Given the description of an element on the screen output the (x, y) to click on. 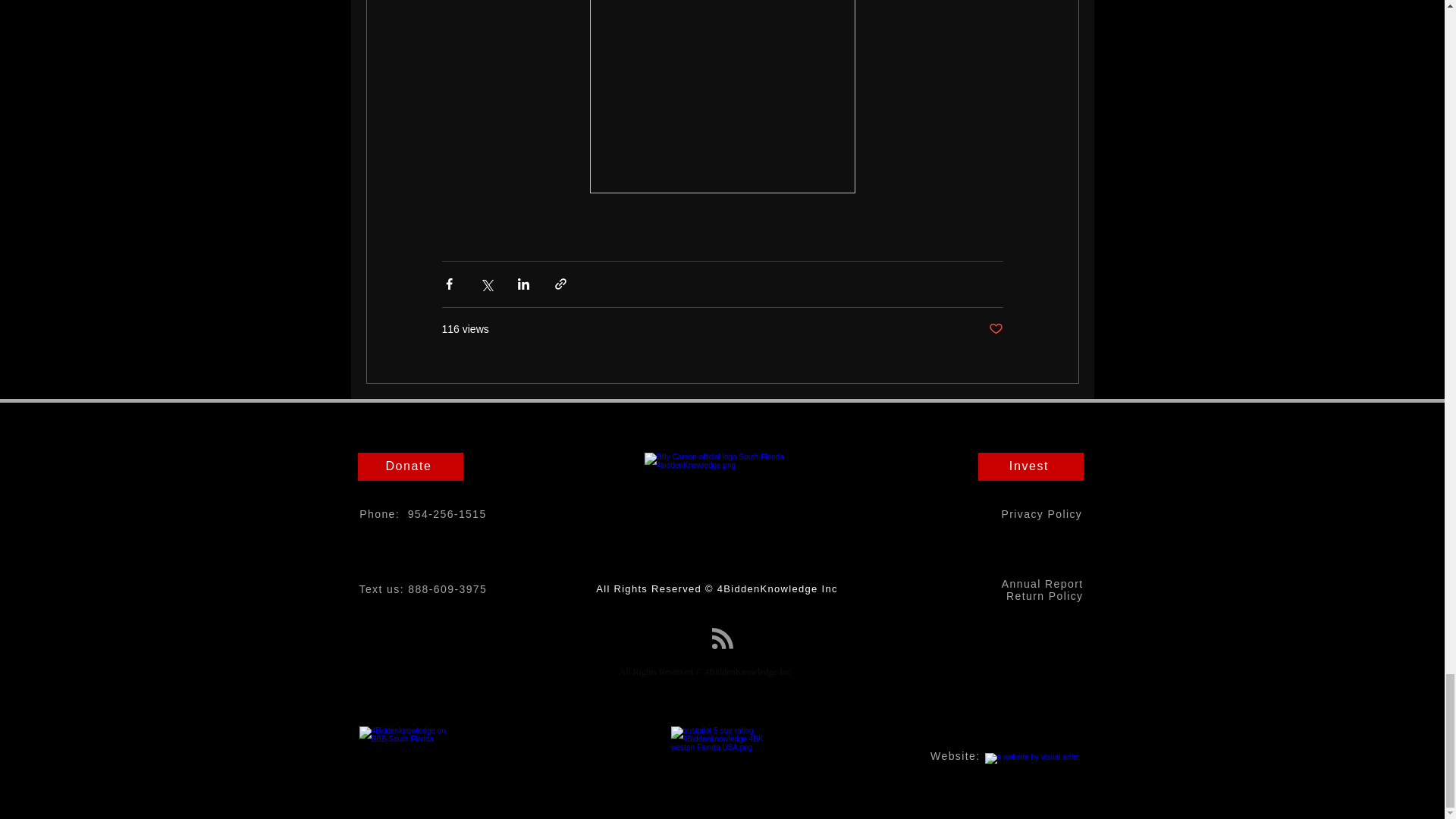
4BiddenKnowledge (722, 514)
